Given the description of an element on the screen output the (x, y) to click on. 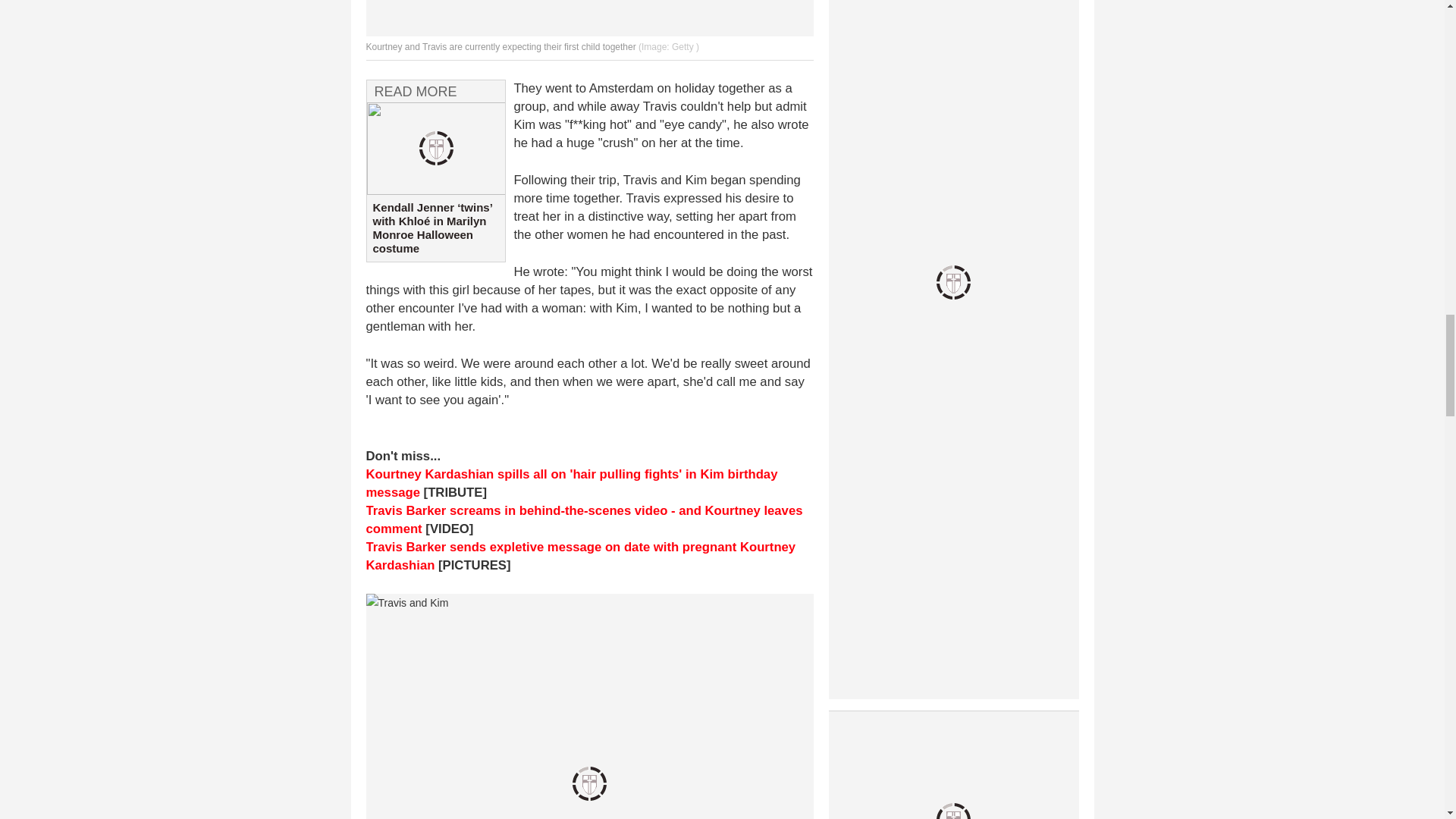
Travis and Kim  (588, 706)
Kourtney and Travis  (588, 18)
